Given the description of an element on the screen output the (x, y) to click on. 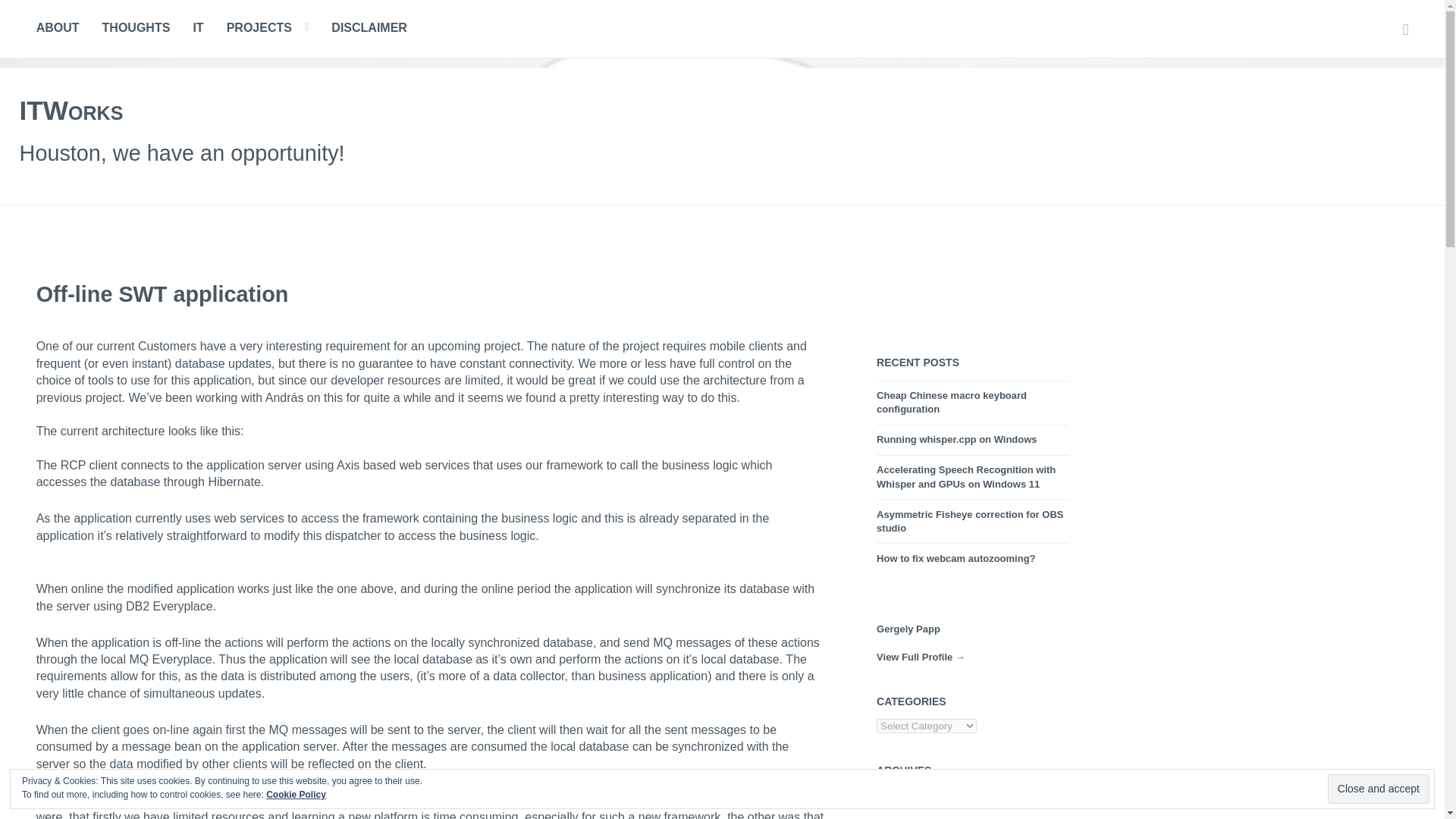
THOUGHTS (135, 28)
ITWorks (71, 110)
ABOUT (58, 28)
DISCLAIMER (369, 28)
Close and accept (1378, 788)
PROJECTS (259, 28)
